Given the description of an element on the screen output the (x, y) to click on. 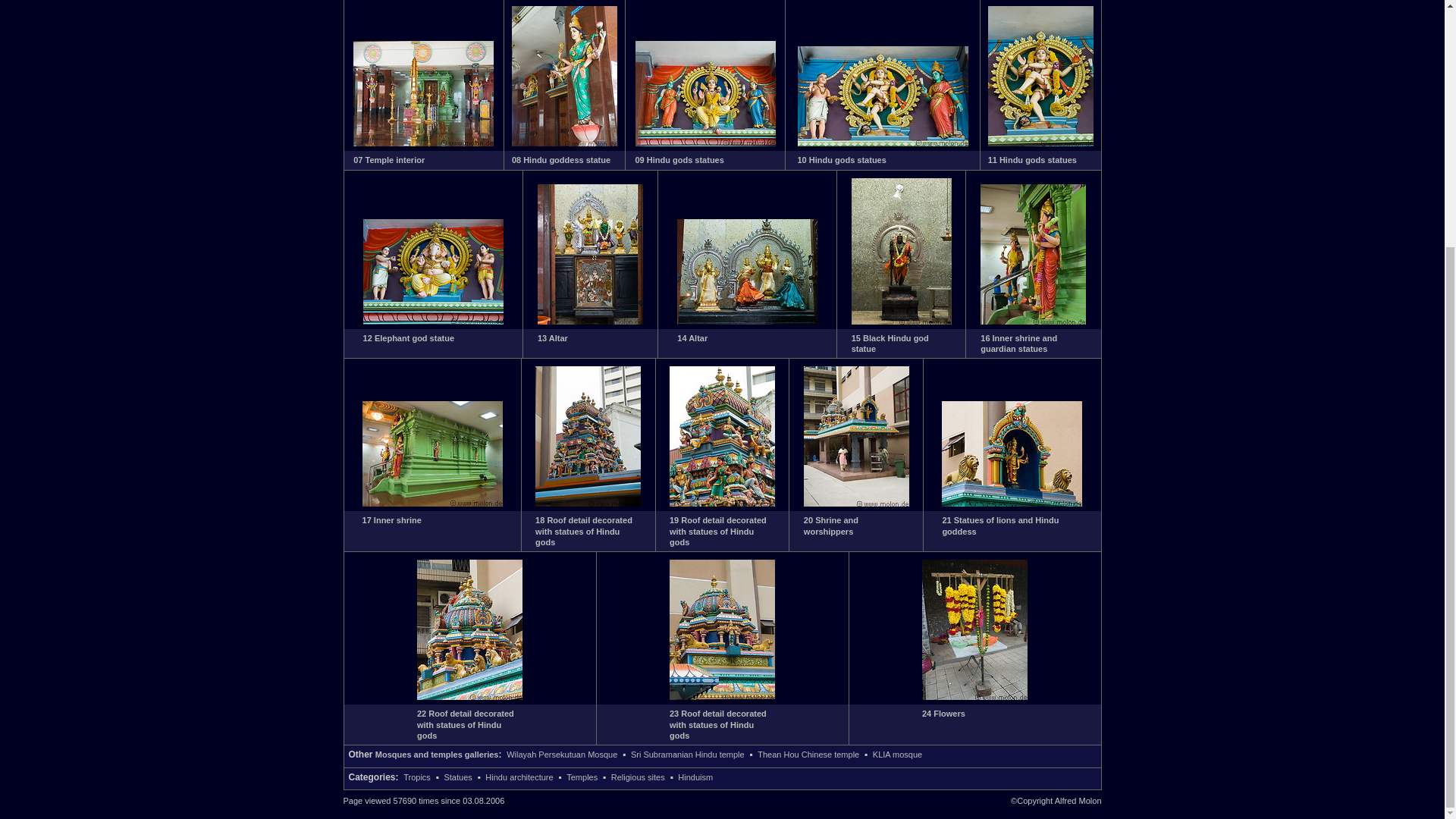
Image MA25060 - click to enlarge (590, 320)
08 Hindu goddess statue (561, 159)
Image MA25058 - click to enlarge (1040, 143)
Image MA25062 - click to enlarge (901, 320)
Image MA25054 - click to enlarge (423, 143)
12 Elephant god statue (408, 338)
Image MA25059 - click to enlarge (432, 320)
Image MA25057 - click to enlarge (882, 143)
Image MA25061 - click to enlarge (746, 320)
07 Temple interior (389, 159)
